Given the description of an element on the screen output the (x, y) to click on. 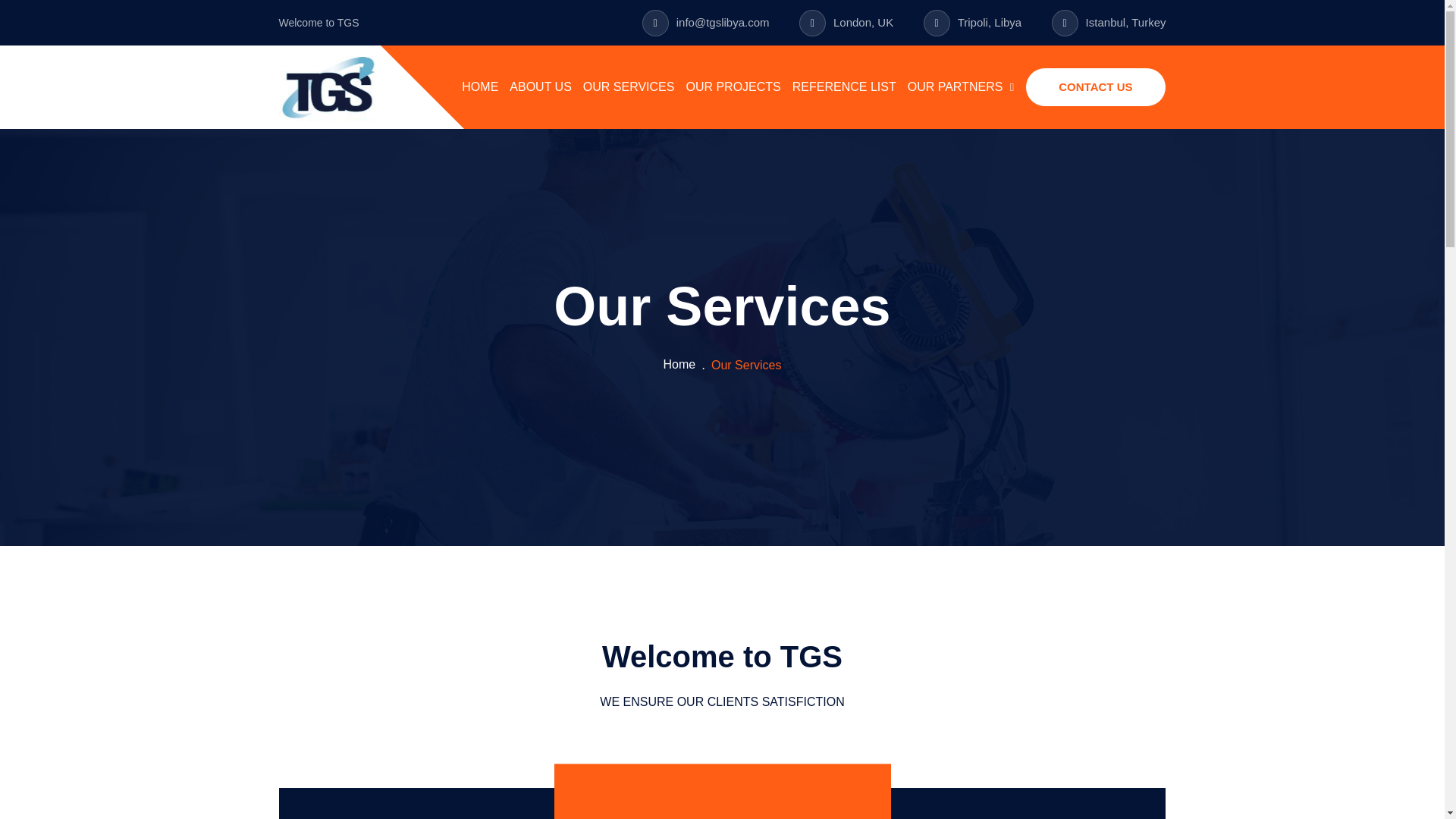
CONTACT US (1095, 87)
OUR SERVICES (629, 86)
OUR PROJECTS (732, 86)
REFERENCE LIST (844, 86)
OUR PARTNERS (960, 86)
REFERENCE LIST (844, 86)
Home (679, 364)
OUR SERVICES (629, 86)
OUR PROJECTS (732, 86)
OUR PARTNERS (960, 86)
